Given the description of an element on the screen output the (x, y) to click on. 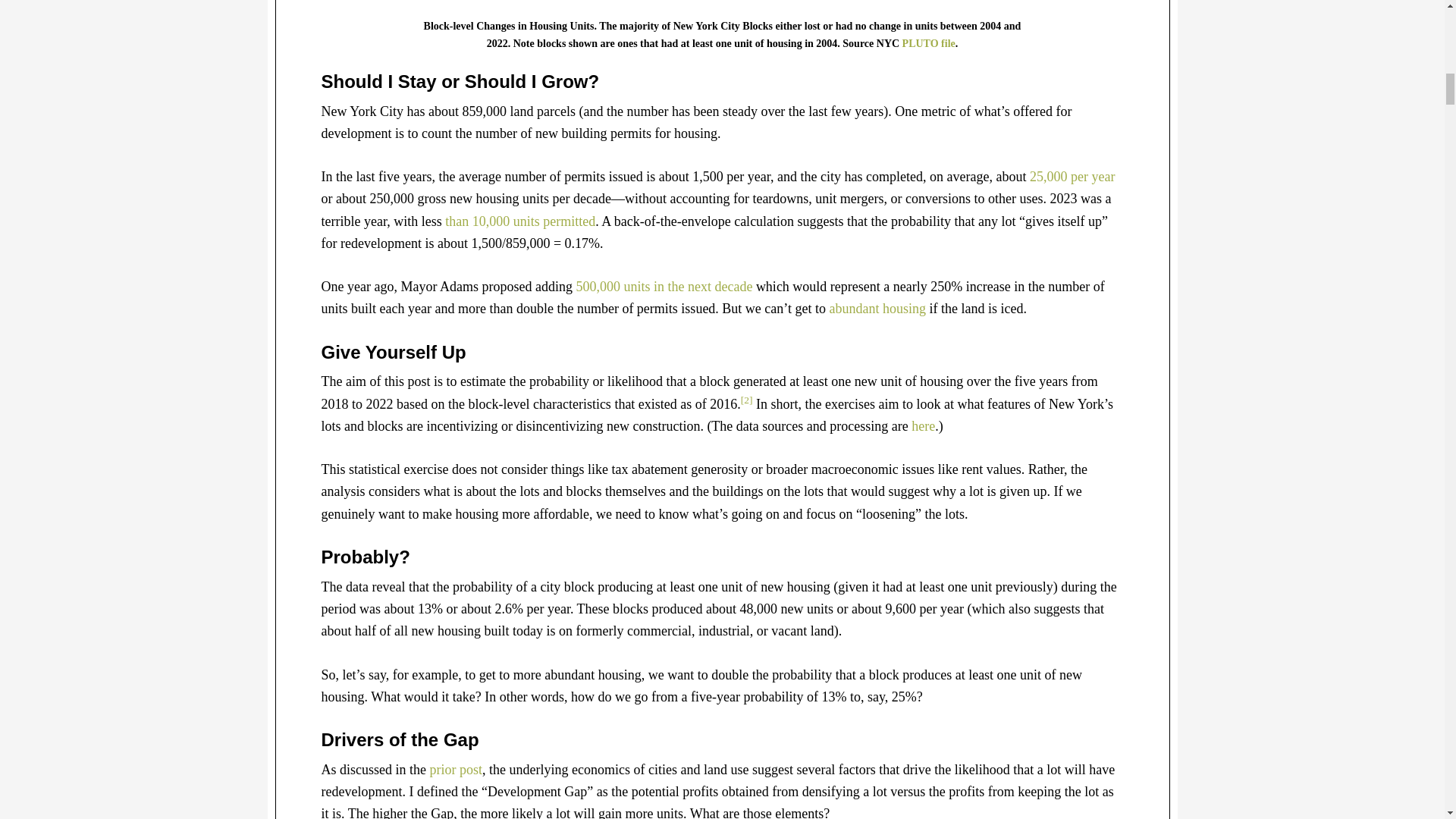
here (922, 426)
than 10,000 units permitted (520, 221)
PLUTO file (928, 43)
prior post (455, 769)
500,000 units in the next decade (663, 286)
abundant housing (877, 308)
25,000 per year (1072, 176)
